Given the description of an element on the screen output the (x, y) to click on. 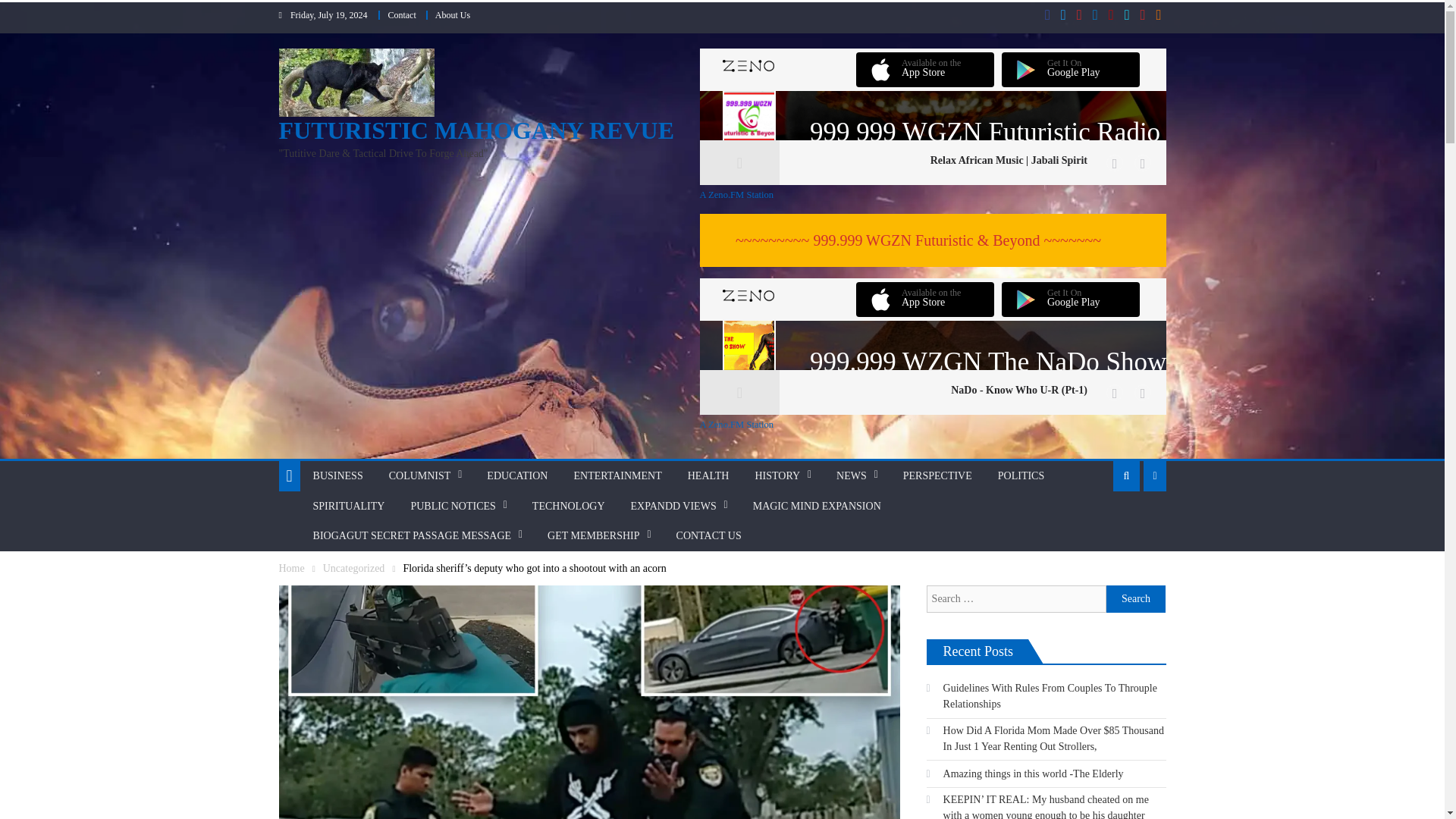
A Zeno.FM Station (932, 194)
A Zeno.FM Station (932, 424)
NEWS (851, 476)
EDUCATION (517, 476)
SPIRITUALITY (348, 506)
PERSPECTIVE (937, 476)
FUTURISTIC MAHOGANY REVUE (477, 130)
ENTERTAINMENT (617, 476)
Search (1136, 598)
HEALTH (709, 476)
POLITICS (1021, 476)
COLUMNIST (420, 476)
